Given the description of an element on the screen output the (x, y) to click on. 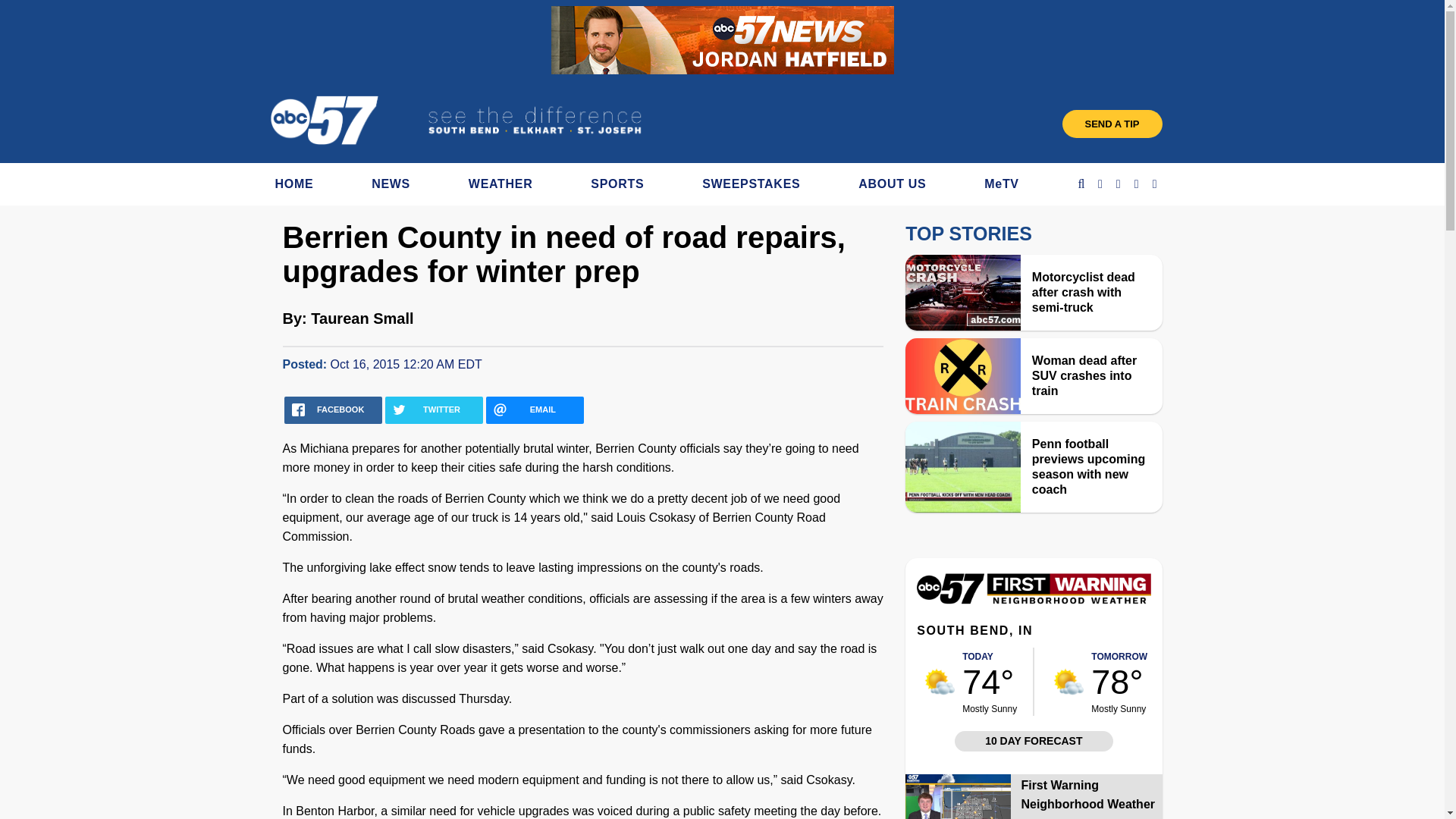
Weather (1033, 599)
weather (989, 681)
weather (1118, 681)
weather (939, 681)
weather (1067, 681)
